Given the description of an element on the screen output the (x, y) to click on. 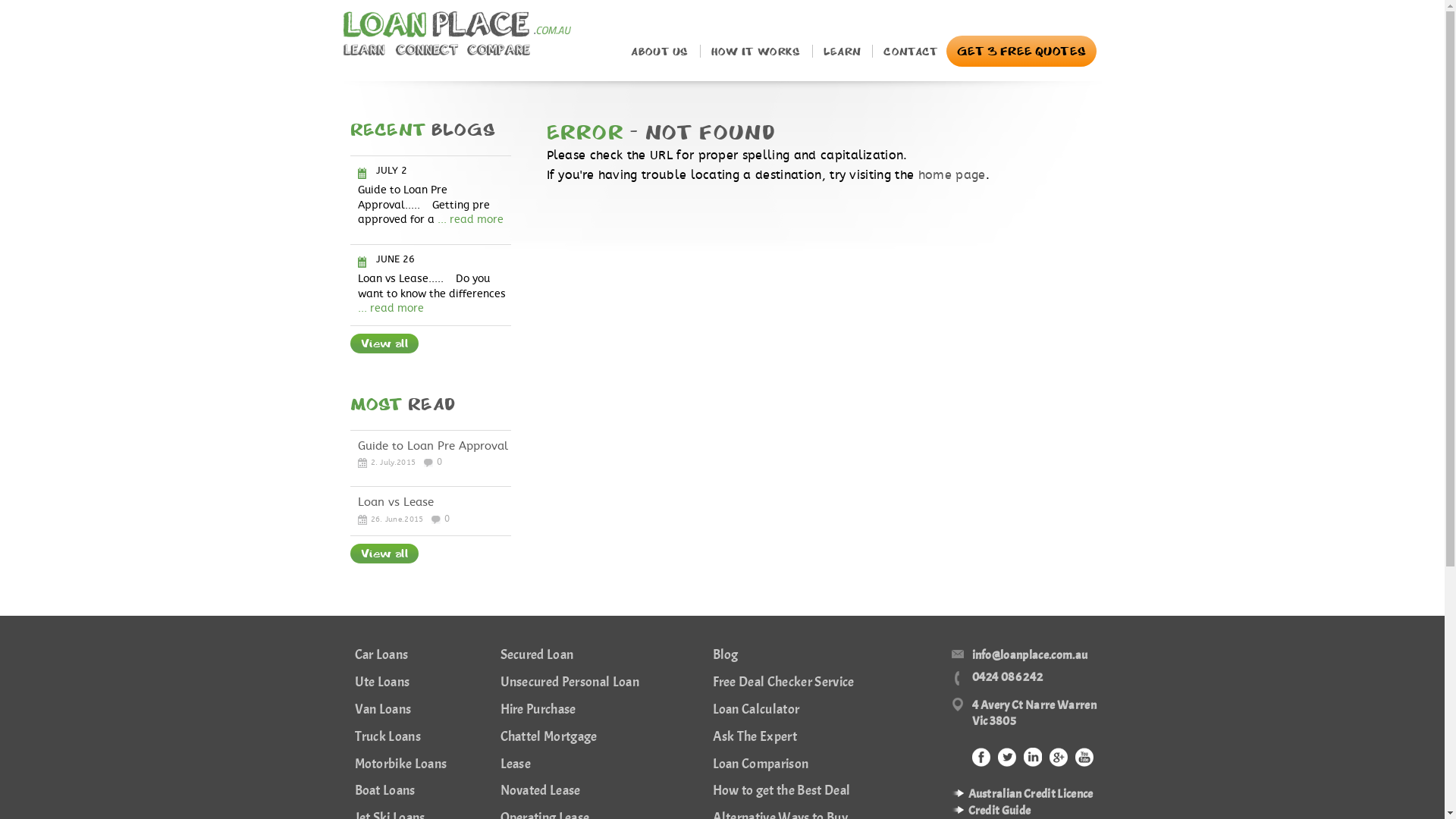
Loan vs Lease Element type: text (395, 501)
4 Avery Ct Narre Warren Vic 3805 Element type: text (1024, 713)
0424 086 242 Element type: text (996, 677)
Lease Element type: text (515, 763)
Novated Lease Element type: text (540, 790)
Blog Element type: text (725, 654)
Ute Loans Element type: text (382, 681)
Credit Guide Element type: text (998, 810)
Boat Loans Element type: text (384, 790)
Loan Comparison Element type: text (760, 763)
Free Deal Checker Service Element type: text (783, 681)
Loan Calculator Element type: text (756, 709)
Hire Purchase Element type: text (538, 709)
Secured Loan Element type: text (537, 654)
Australian Credit Licence Element type: text (1029, 793)
ABOUT US Element type: text (659, 50)
Chattel Mortgage Element type: text (548, 736)
How to get the Best Deal Element type: text (781, 790)
info@loanplace.com.au Element type: text (1018, 655)
twitter Element type: text (1006, 756)
linkedin Element type: text (1032, 756)
googleplus Element type: text (1058, 756)
facebook Element type: text (981, 756)
home page Element type: text (951, 174)
LEARN Element type: text (842, 50)
Truck Loans Element type: text (387, 736)
HOW IT WORKS Element type: text (755, 50)
Ask The Expert Element type: text (754, 736)
Van Loans Element type: text (382, 709)
CONTACT Element type: text (910, 50)
GET 3 FREE QUOTES Element type: text (1021, 50)
LoanPlace Element type: text (456, 33)
View all Element type: text (384, 343)
... read more Element type: text (390, 307)
Guide to Loan Pre Approval Element type: text (432, 445)
youtube Element type: text (1084, 756)
View all Element type: text (384, 553)
Motorbike Loans Element type: text (400, 763)
... read more Element type: text (469, 219)
Unsecured Personal Loan Element type: text (569, 681)
Car Loans Element type: text (381, 654)
